Given the description of an element on the screen output the (x, y) to click on. 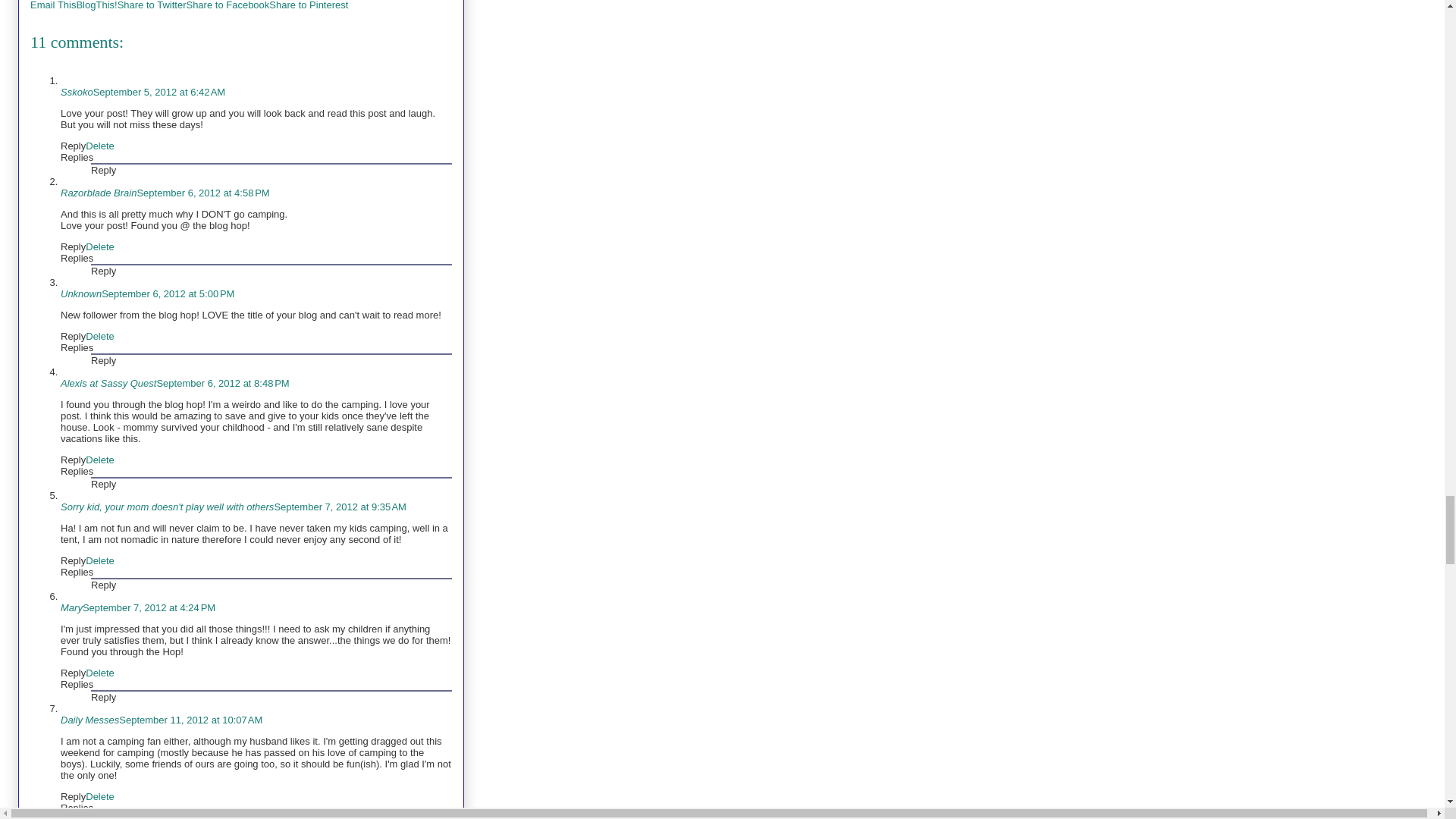
Sskoko (77, 91)
Share to Facebook (227, 5)
Share to Pinterest (308, 5)
Reply (103, 270)
BlogThis! (95, 5)
Reply (73, 145)
Unknown (81, 293)
Delete (100, 246)
Share to Facebook (227, 5)
Replies (77, 257)
Share to Twitter (151, 5)
Share to Twitter (151, 5)
Share to Pinterest (308, 5)
